Given the description of an element on the screen output the (x, y) to click on. 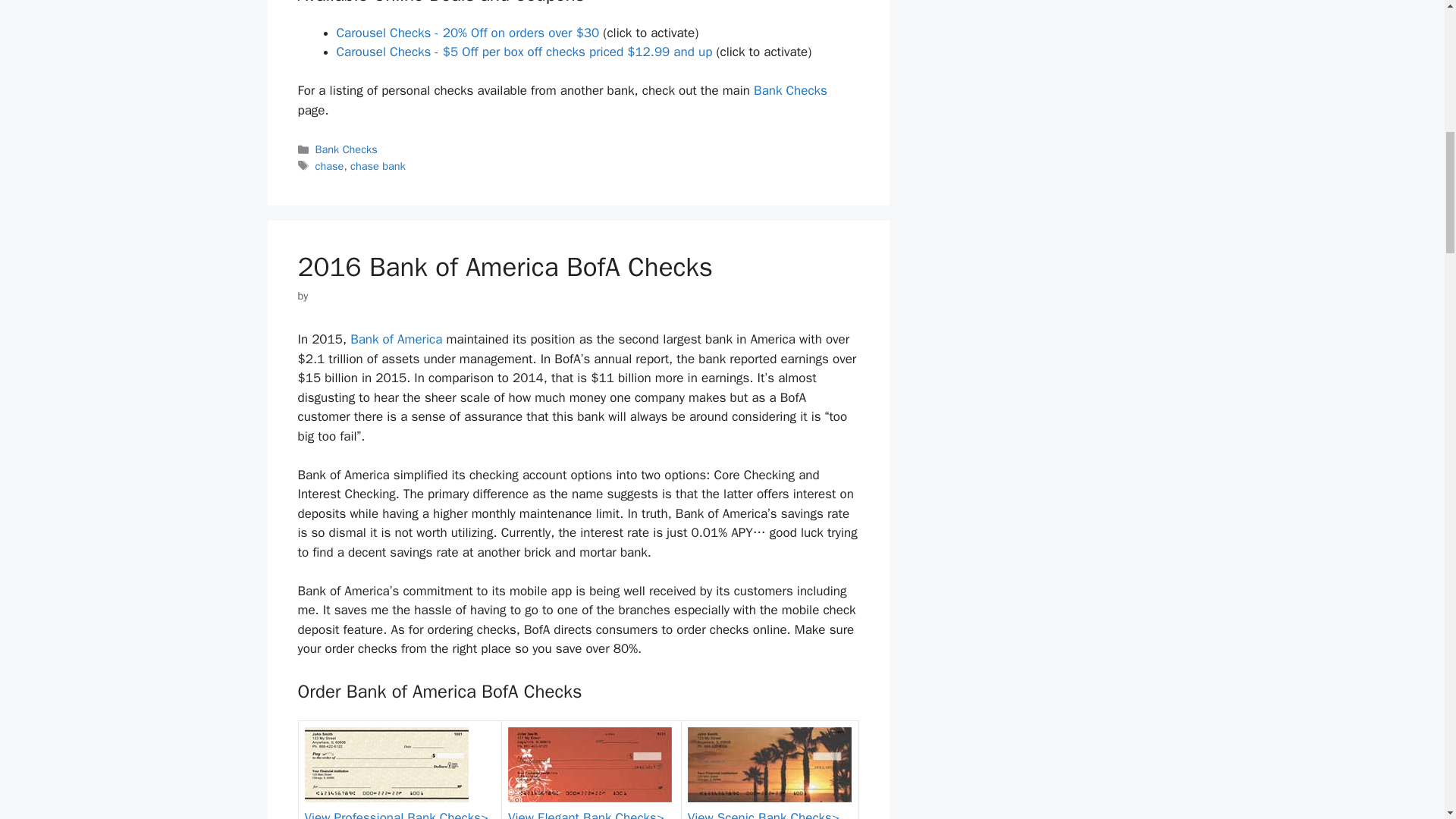
chase bank (378, 165)
chase (329, 165)
Island Paradise Personal Bank Checks (769, 764)
Bank Checks (790, 90)
Bank Checks (346, 149)
Parchment Personal Bank Checks (386, 764)
2016 Bank of America BofA Checks (505, 266)
Bank of America (396, 339)
